Given the description of an element on the screen output the (x, y) to click on. 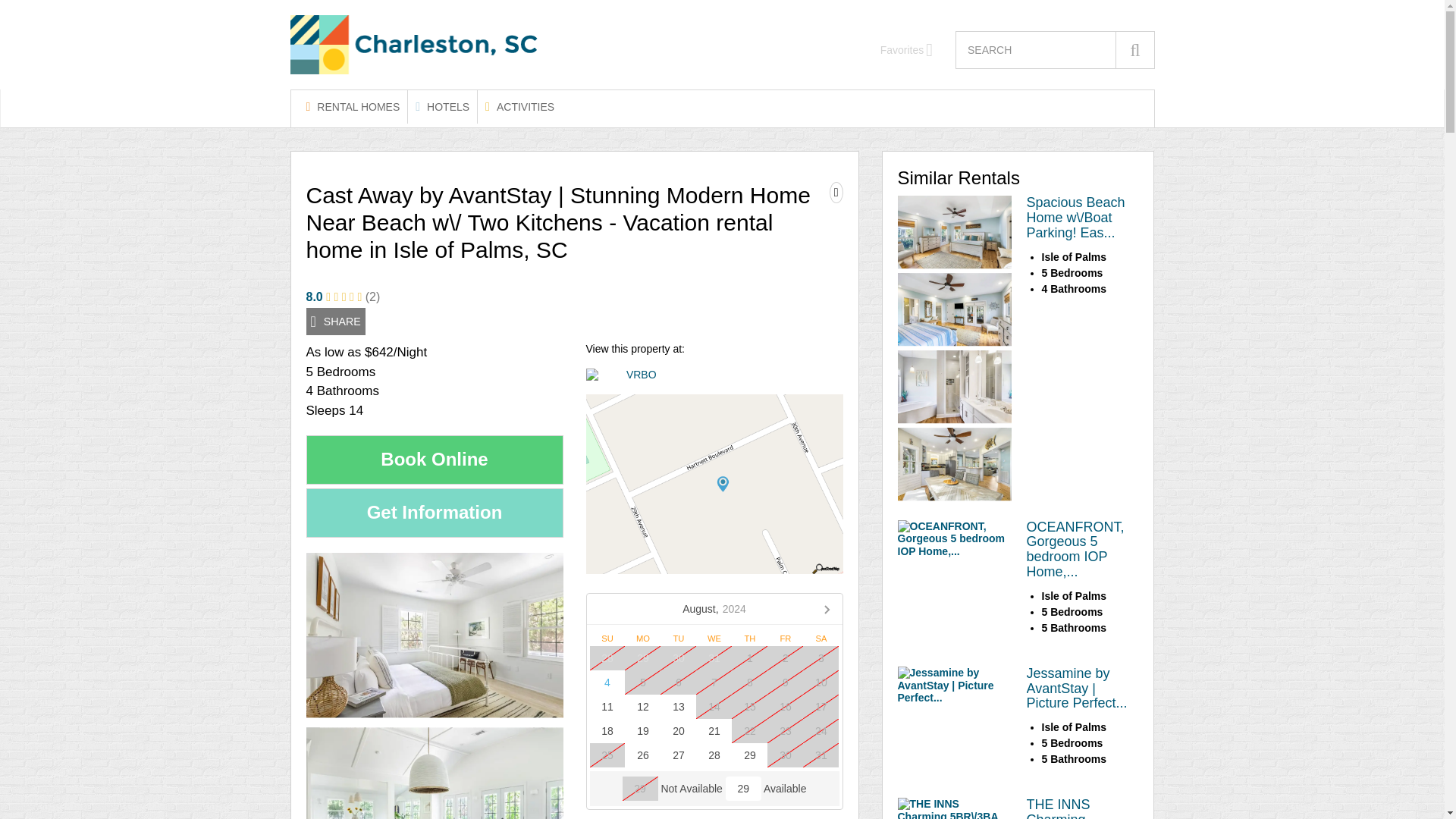
OCEANFRONT, Gorgeous 5 bedroom IOP Home,... (1075, 549)
Get Information (434, 512)
HOTELS (442, 106)
RENTAL HOMES (352, 106)
Book Online (434, 459)
ACTIVITIES (519, 106)
SHARE (335, 320)
Favorites (906, 49)
